Given the description of an element on the screen output the (x, y) to click on. 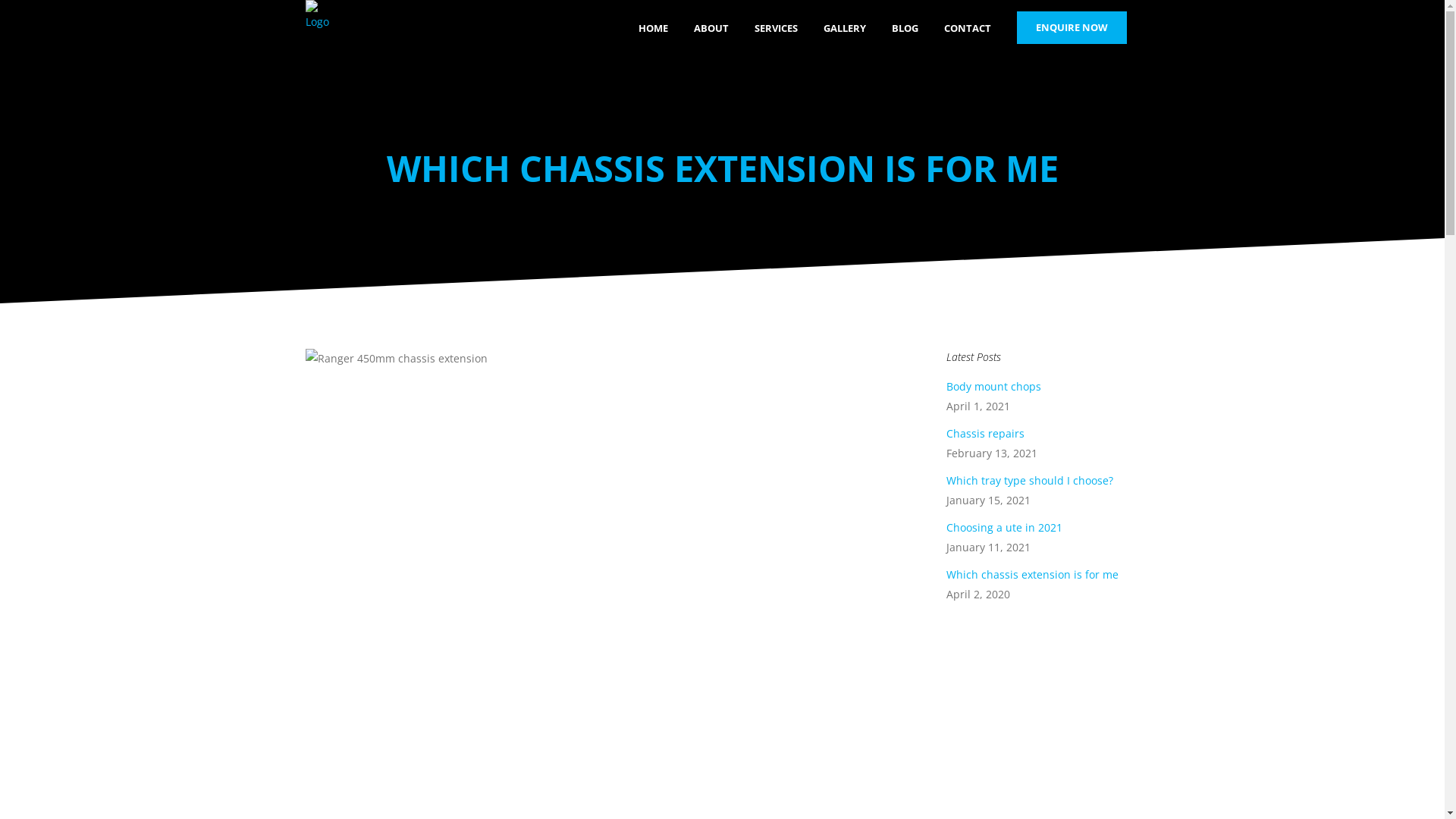
ABOUT Element type: text (710, 28)
Chassis repairs Element type: text (985, 433)
HOME Element type: text (652, 28)
Which chassis extension is for me Element type: text (1032, 574)
GALLERY Element type: text (843, 28)
CONTACT Element type: text (967, 28)
Body mount chops Element type: text (993, 386)
BLOG Element type: text (904, 28)
SERVICES Element type: text (775, 28)
ENQUIRE NOW Element type: text (1071, 27)
Choosing a ute in 2021 Element type: text (1004, 527)
Which tray type should I choose? Element type: text (1029, 480)
